Given the description of an element on the screen output the (x, y) to click on. 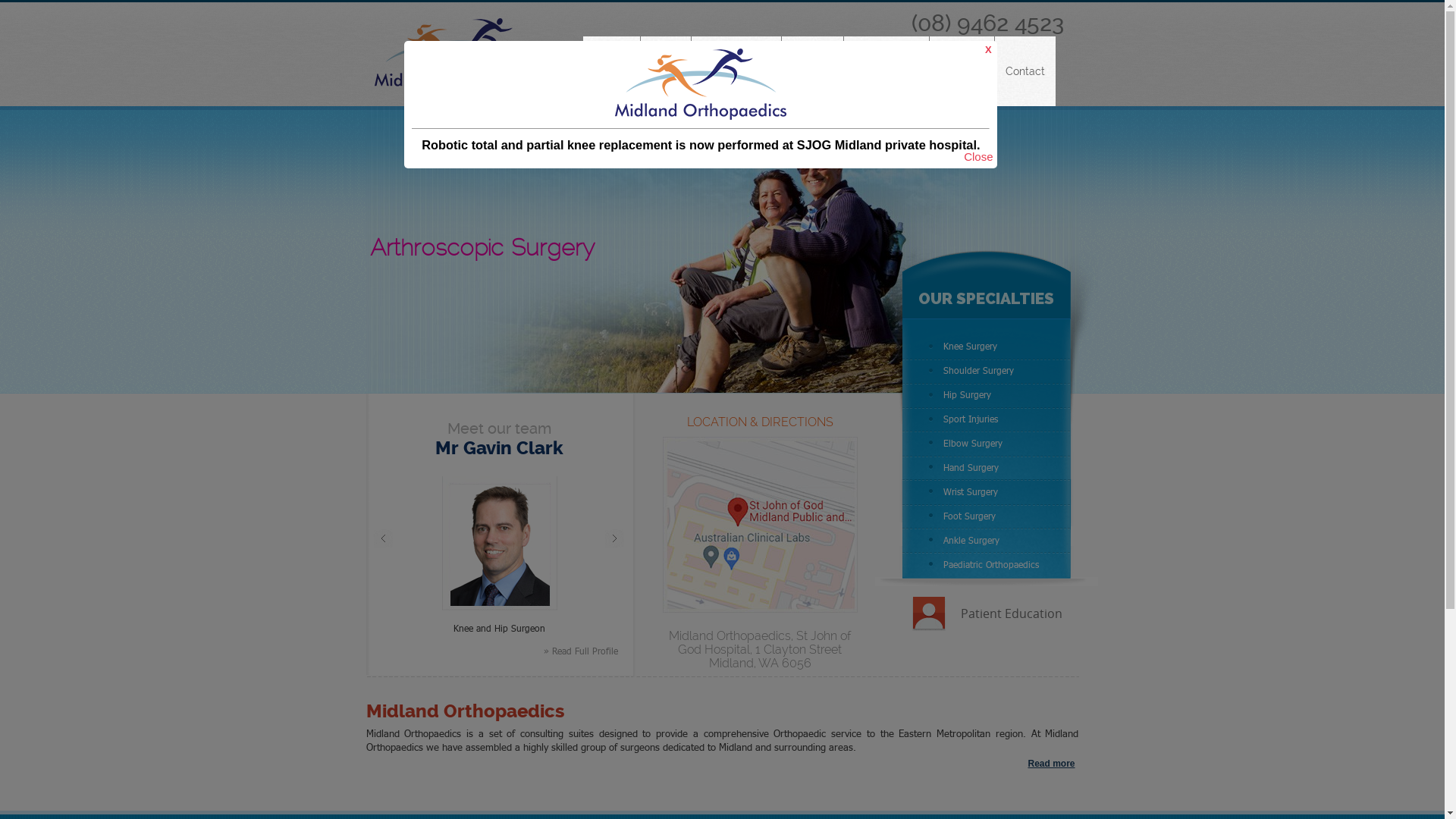
Mr Gavin Clark Element type: text (499, 447)
Sport Injuries Element type: text (986, 419)
(08) 9462 4523 Element type: text (987, 22)
Wrist Surgery Element type: text (986, 492)
Ankle Surgery Element type: text (986, 540)
Shoulder Surgery Element type: text (986, 370)
Hip Surgery Element type: text (986, 394)
Knee Surgery Element type: text (986, 346)
Paediatric Orthopaedics Element type: text (986, 564)
Meet our team Element type: text (499, 428)
Patient Education Element type: text (1010, 613)
Our Surgeons Element type: text (736, 71)
For Referrers Element type: text (885, 71)
Hand Surgery Element type: text (986, 467)
About Element type: text (665, 71)
Foot Surgery Element type: text (986, 516)
Contact Element type: text (1024, 71)
LOCATION & DIRECTIONS Element type: text (760, 421)
Services Element type: text (811, 71)
First Visit Element type: text (961, 71)
Read more Element type: text (1050, 763)
Home Element type: text (610, 71)
Elbow Surgery Element type: text (986, 443)
